Given the description of an element on the screen output the (x, y) to click on. 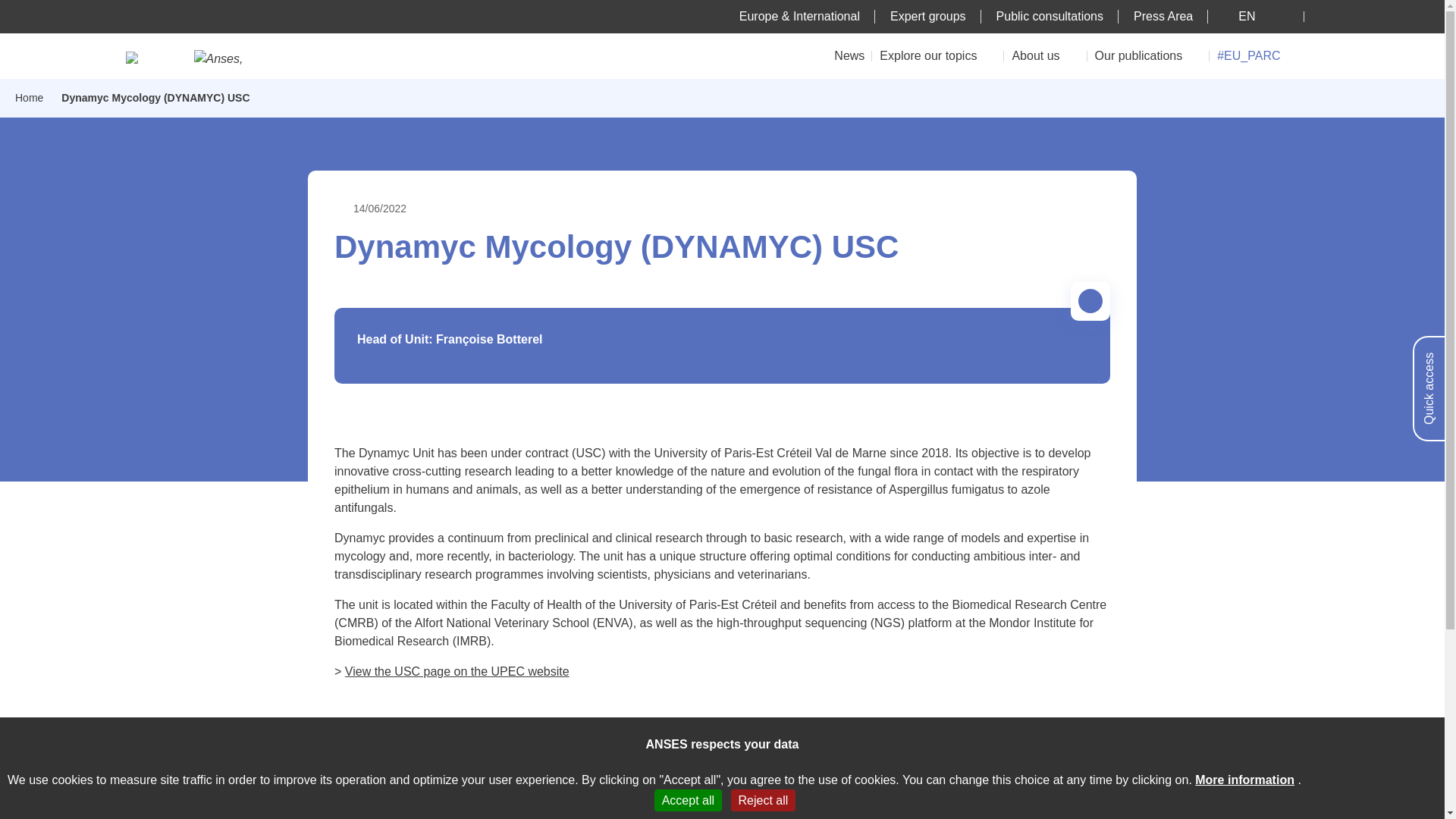
Anses, back to home (226, 58)
Explore our topics (937, 55)
Share (1090, 300)
News (849, 55)
EN (1255, 16)
Public consultations (1049, 15)
Press Area (1163, 15)
About us (1044, 55)
Expert groups (927, 15)
